Given the description of an element on the screen output the (x, y) to click on. 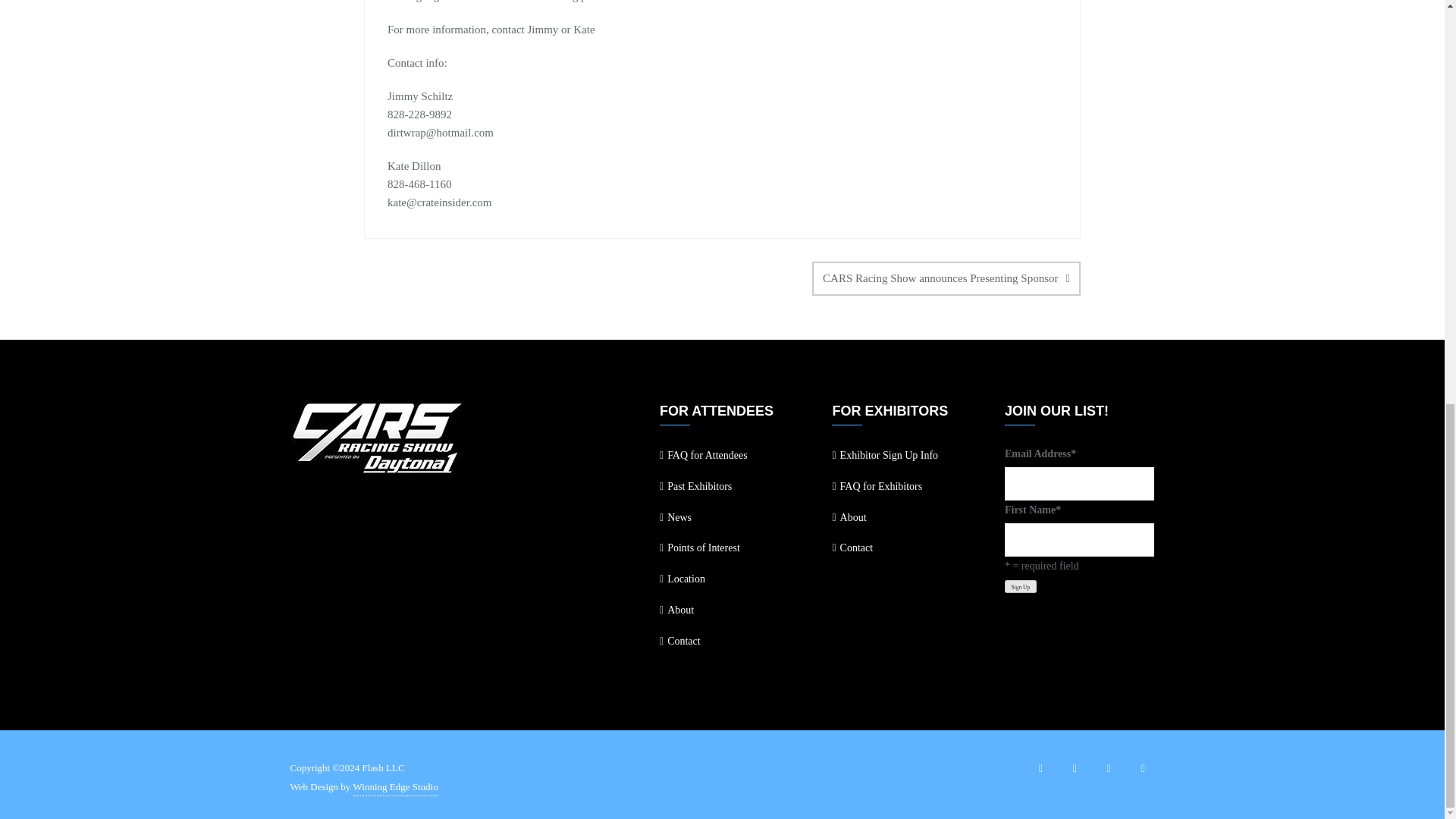
Past Exhibitors (734, 486)
Winning Edge Studio (395, 787)
FAQ for Exhibitors (906, 486)
Sign Up (1020, 585)
About (906, 517)
Points of Interest (734, 548)
FAQ for Attendees (734, 455)
Contact (734, 641)
CARS Racing Show announces Presenting Sponsor (946, 278)
Exhibitor Sign Up Info (906, 455)
